Given the description of an element on the screen output the (x, y) to click on. 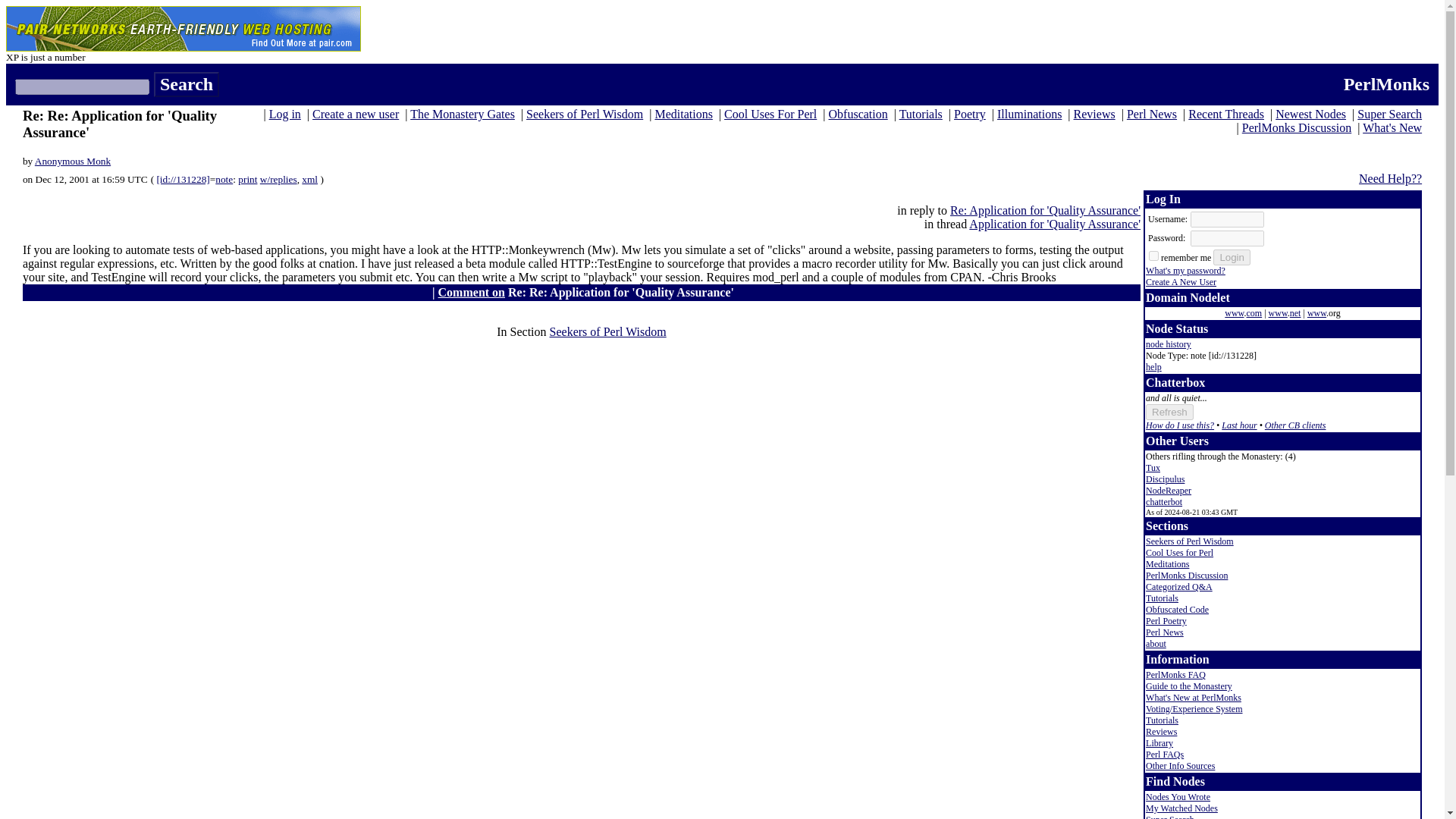
Login (1231, 257)
What's my password? (1185, 270)
xml (309, 179)
Tutorials (920, 113)
Reviews (1094, 113)
Meditations (682, 113)
Anonymous Monk (72, 161)
com (1254, 312)
www (1233, 312)
Login (1231, 257)
